Given the description of an element on the screen output the (x, y) to click on. 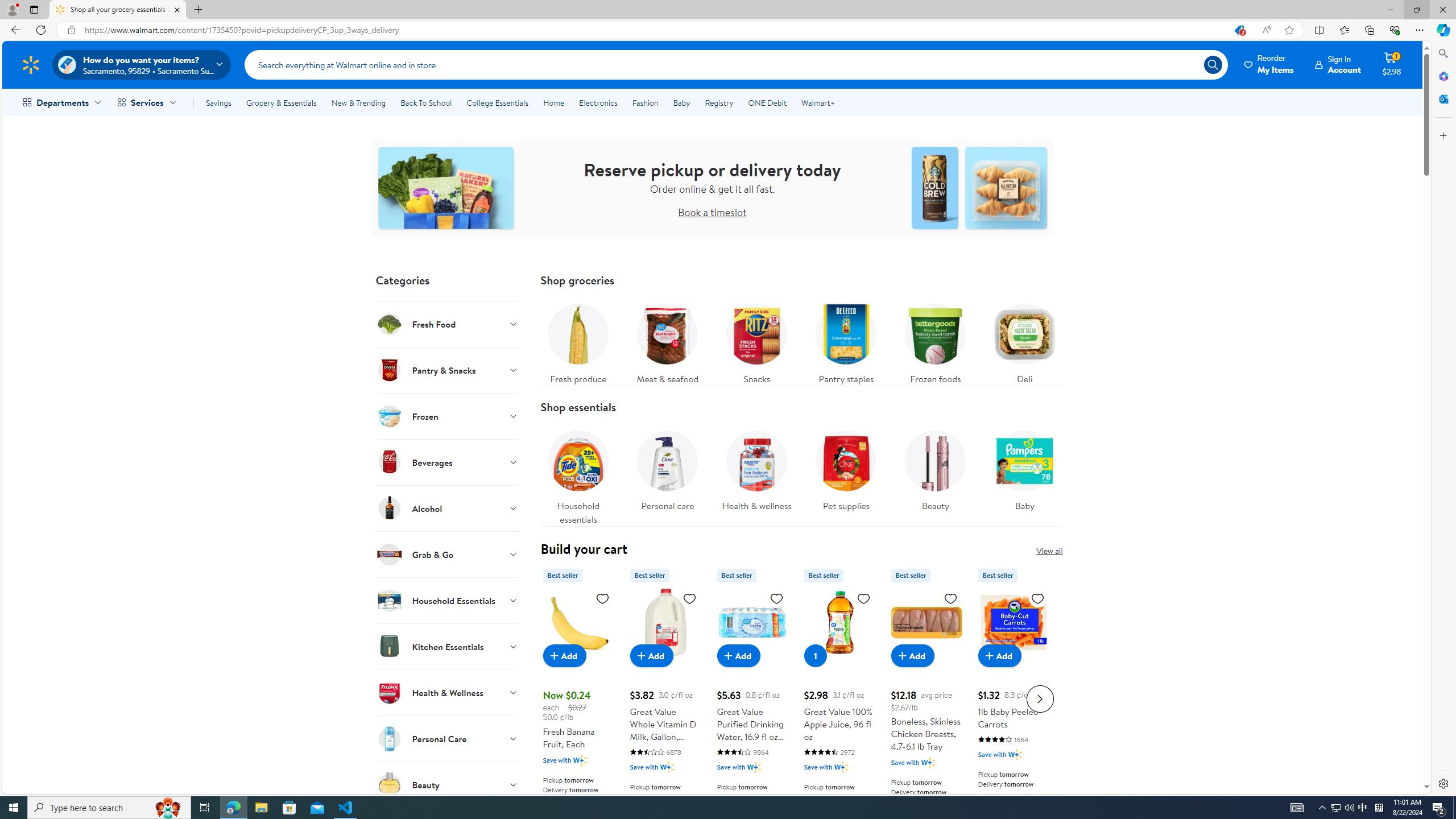
ONE Debit (767, 102)
Household Essentials (446, 600)
Fresh produce (577, 340)
Fashion (644, 102)
Pantry staples (845, 340)
Add to cart - Fresh Banana Fruit, Each (564, 655)
Personal care (667, 467)
